Given the description of an element on the screen output the (x, y) to click on. 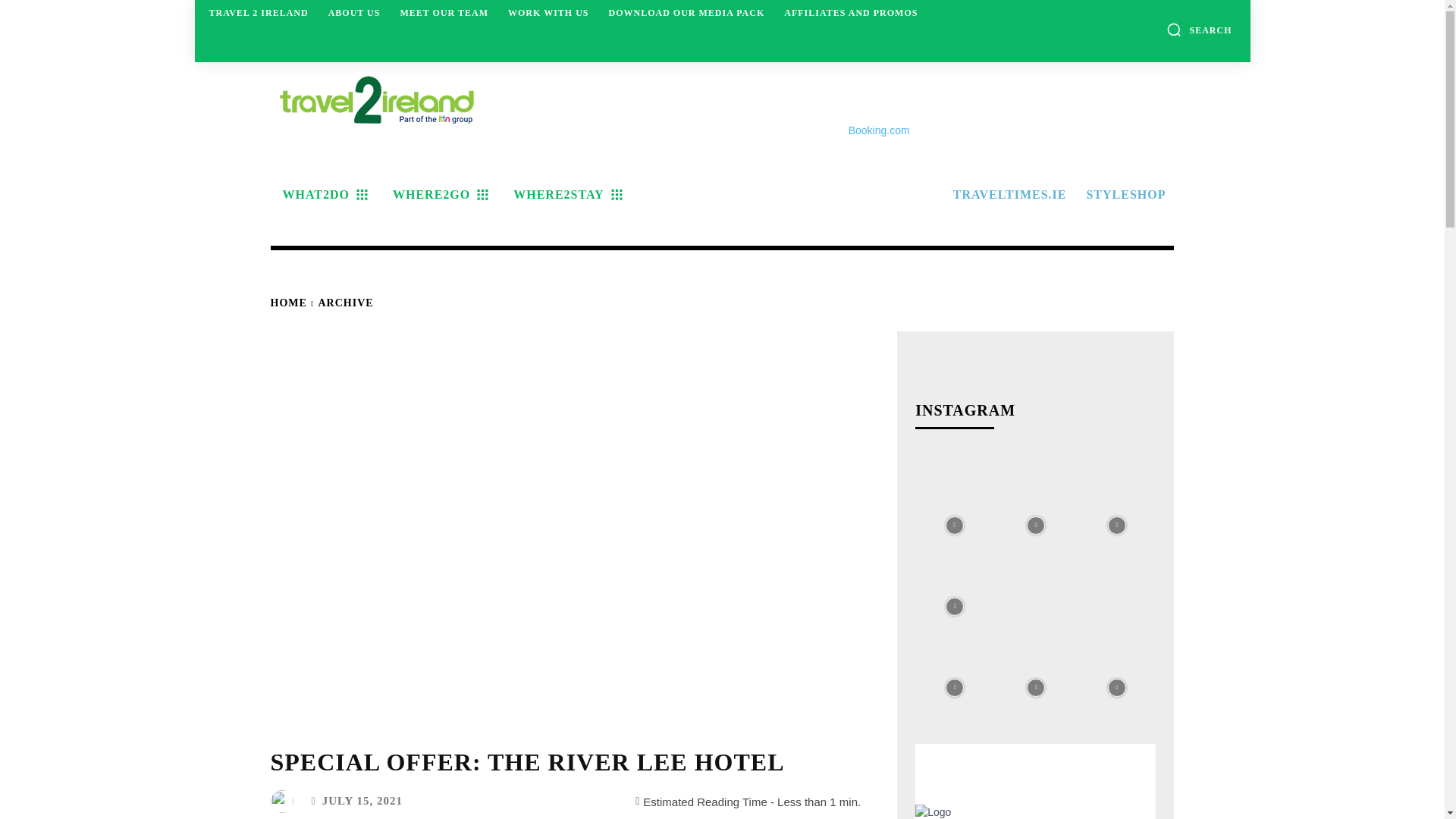
TRAVEL 2 IRELAND (258, 12)
SEARCH (1198, 29)
WHAT2DO (322, 194)
STYLESHOP (1123, 194)
WORK WITH US (547, 12)
TRAVELTIMES.IE (1007, 194)
MEET OUR TEAM (443, 12)
ABOUT US (354, 12)
AFFILIATES AND PROMOS (850, 12)
Booking.com (879, 130)
DOWNLOAD OUR MEDIA PACK (685, 12)
